Given the description of an element on the screen output the (x, y) to click on. 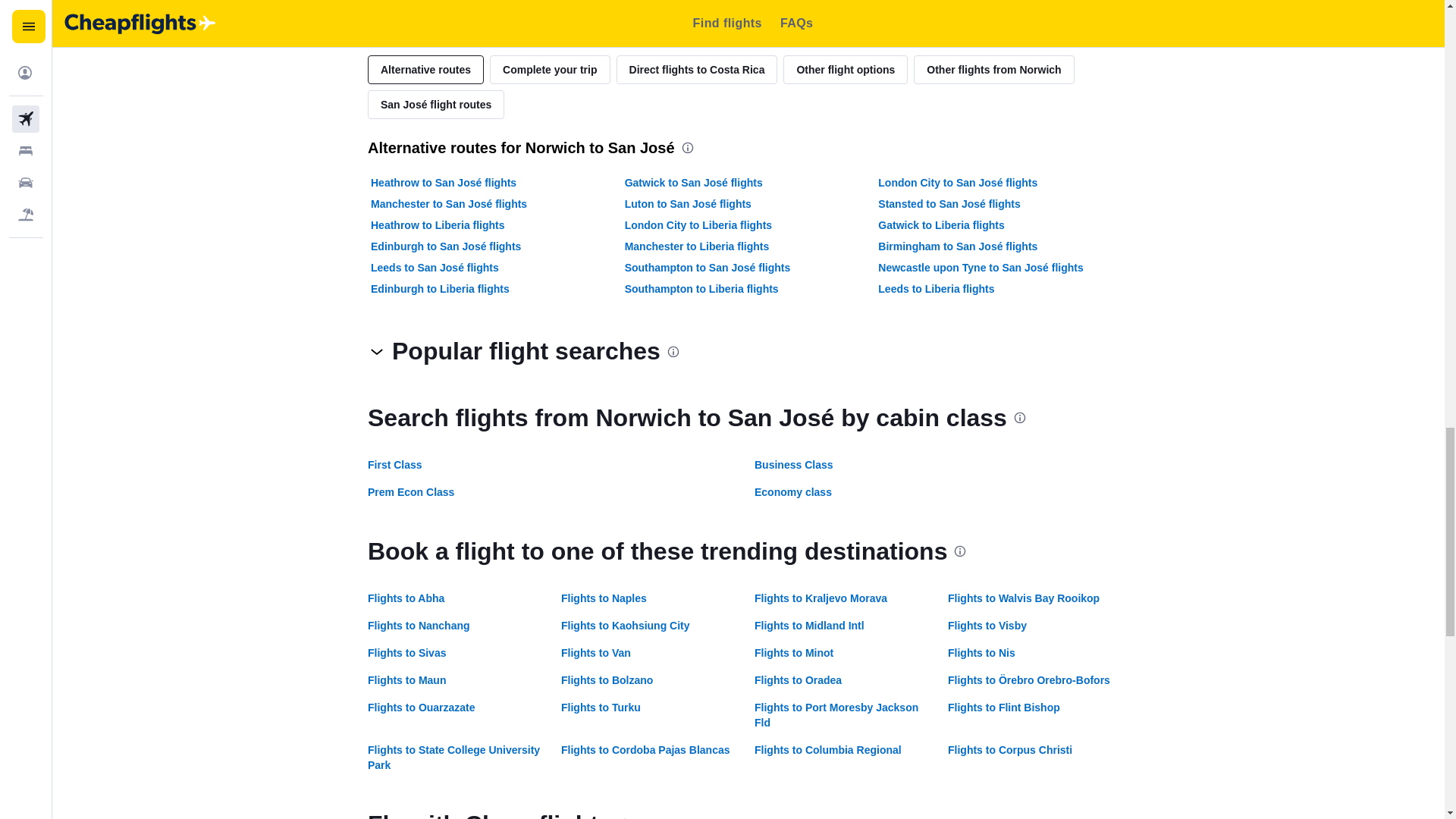
Edinburgh to Liberia flights (440, 288)
Prem Econ Class (411, 491)
Other flight options (845, 69)
Alternative routes (425, 69)
Direct flights to Costa Rica (696, 69)
Economy class (792, 491)
Flights to Abha (406, 598)
Business Class (793, 464)
Complete your trip (549, 69)
First Class (395, 464)
